Given the description of an element on the screen output the (x, y) to click on. 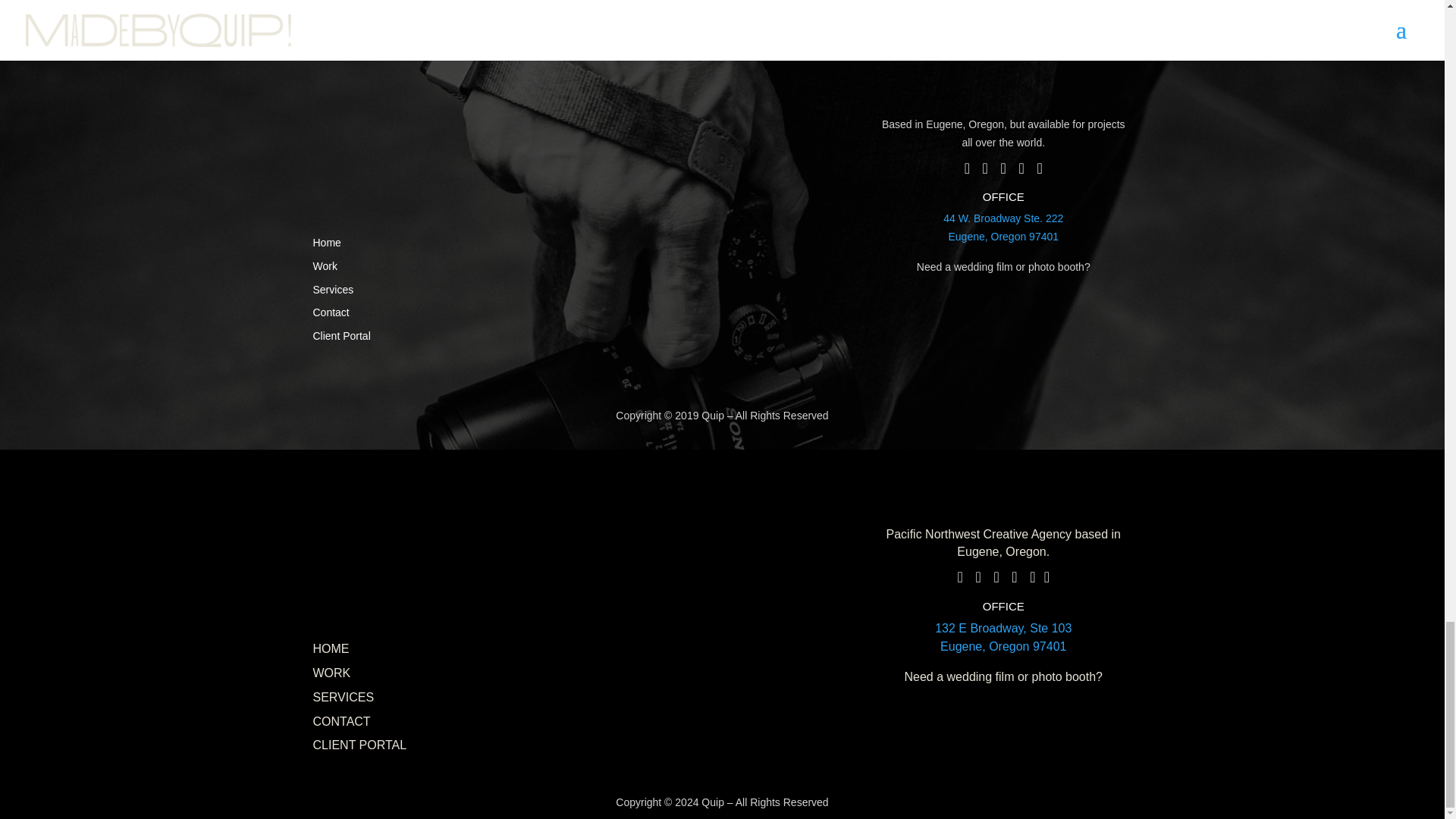
SERVICES (343, 697)
Services (1002, 636)
HOME (333, 289)
CONTACT (331, 648)
CLIENT PORTAL (341, 721)
Client Portal (359, 744)
Home (341, 336)
Contact (1002, 227)
